Given the description of an element on the screen output the (x, y) to click on. 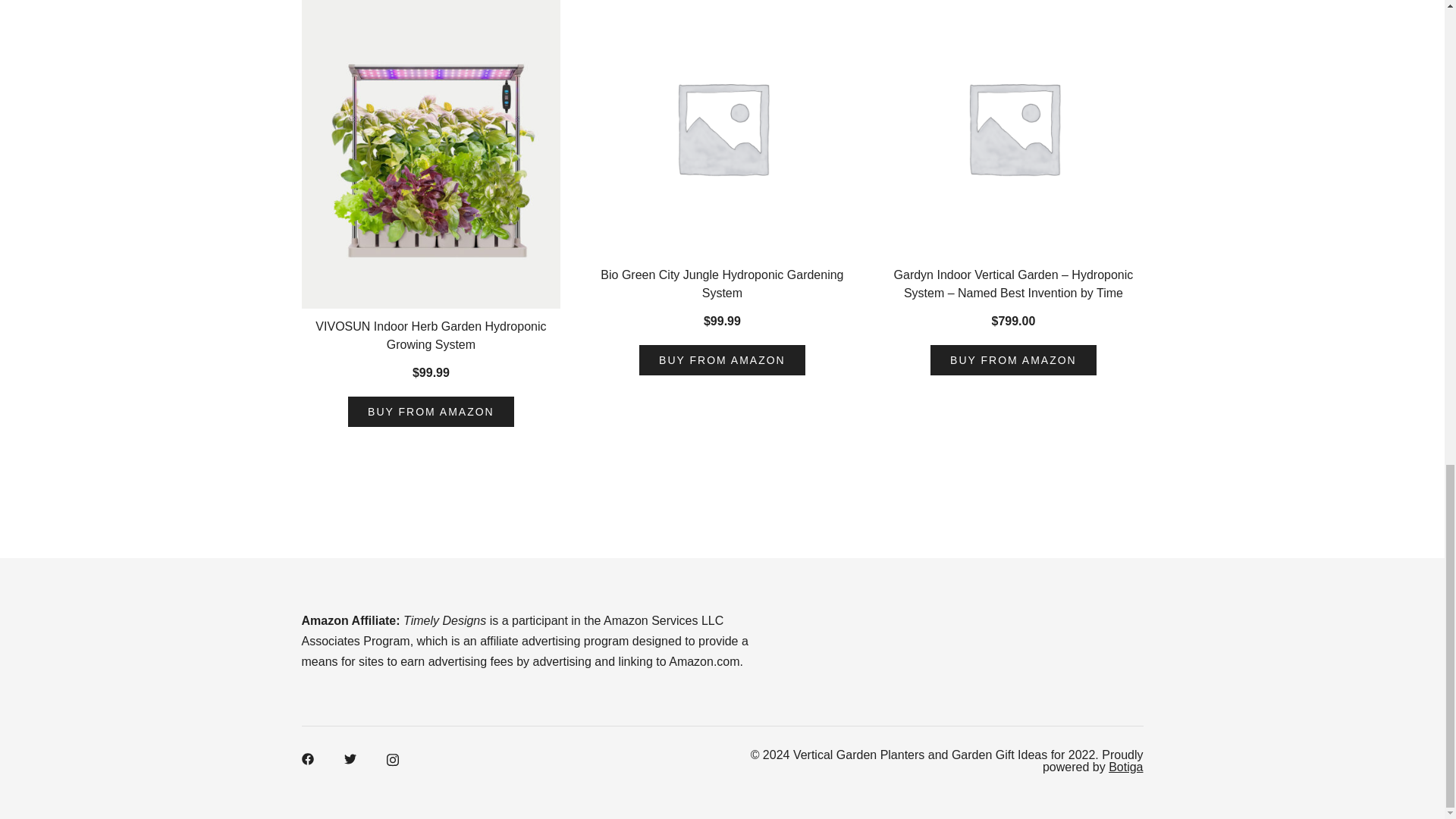
Botiga (1125, 766)
BUY FROM AMAZON (1013, 359)
BUY FROM AMAZON (722, 359)
BUY FROM AMAZON (430, 411)
